Given the description of an element on the screen output the (x, y) to click on. 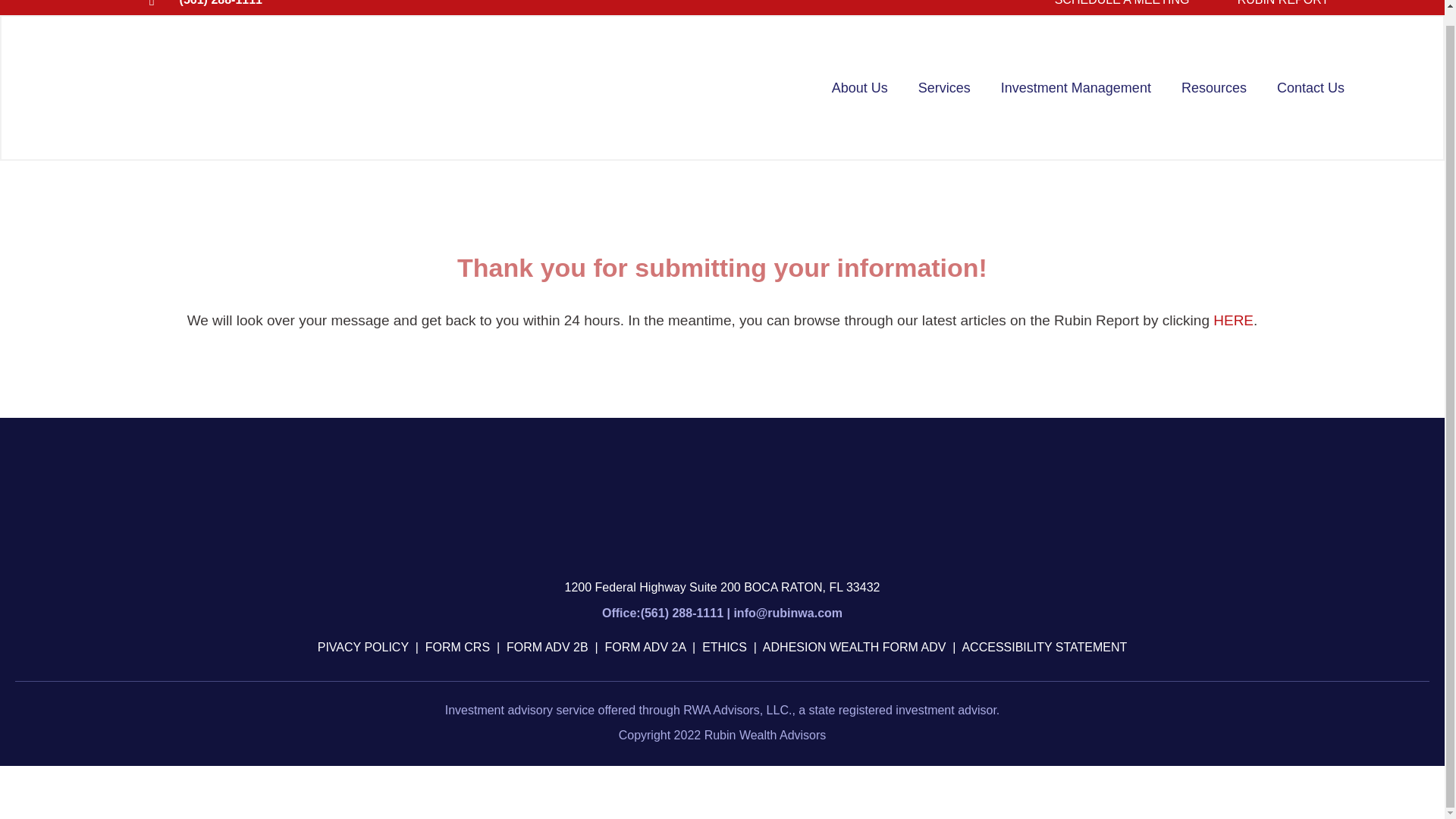
Resources (1214, 87)
Services (943, 87)
RUBIN REPORT (1283, 2)
SCHEDULE A MEETING (1121, 2)
HERE (1232, 320)
Investment Management (1075, 87)
Contact Us (1310, 87)
About Us (859, 87)
